Given the description of an element on the screen output the (x, y) to click on. 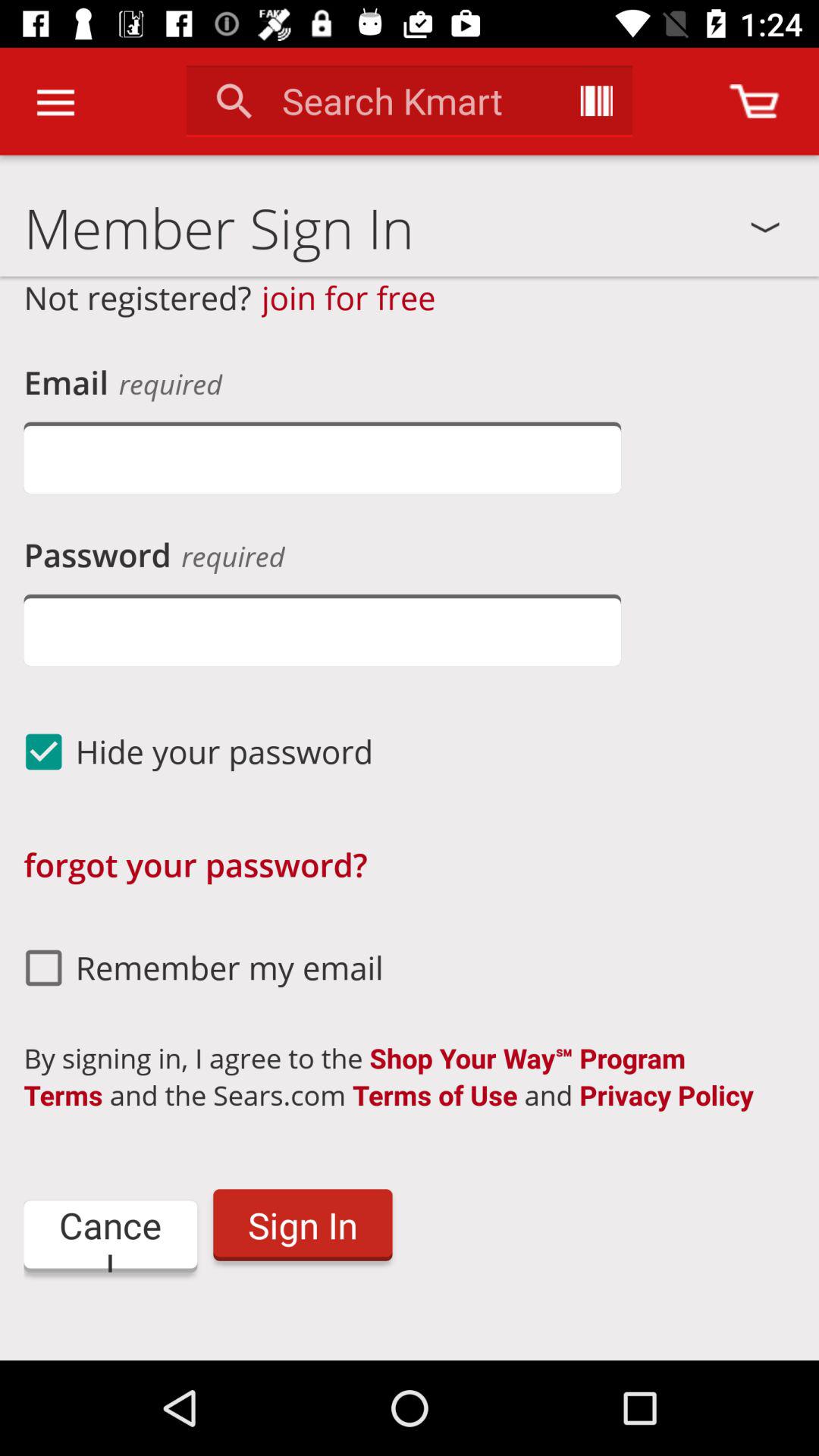
turn off by signing in (401, 1076)
